Given the description of an element on the screen output the (x, y) to click on. 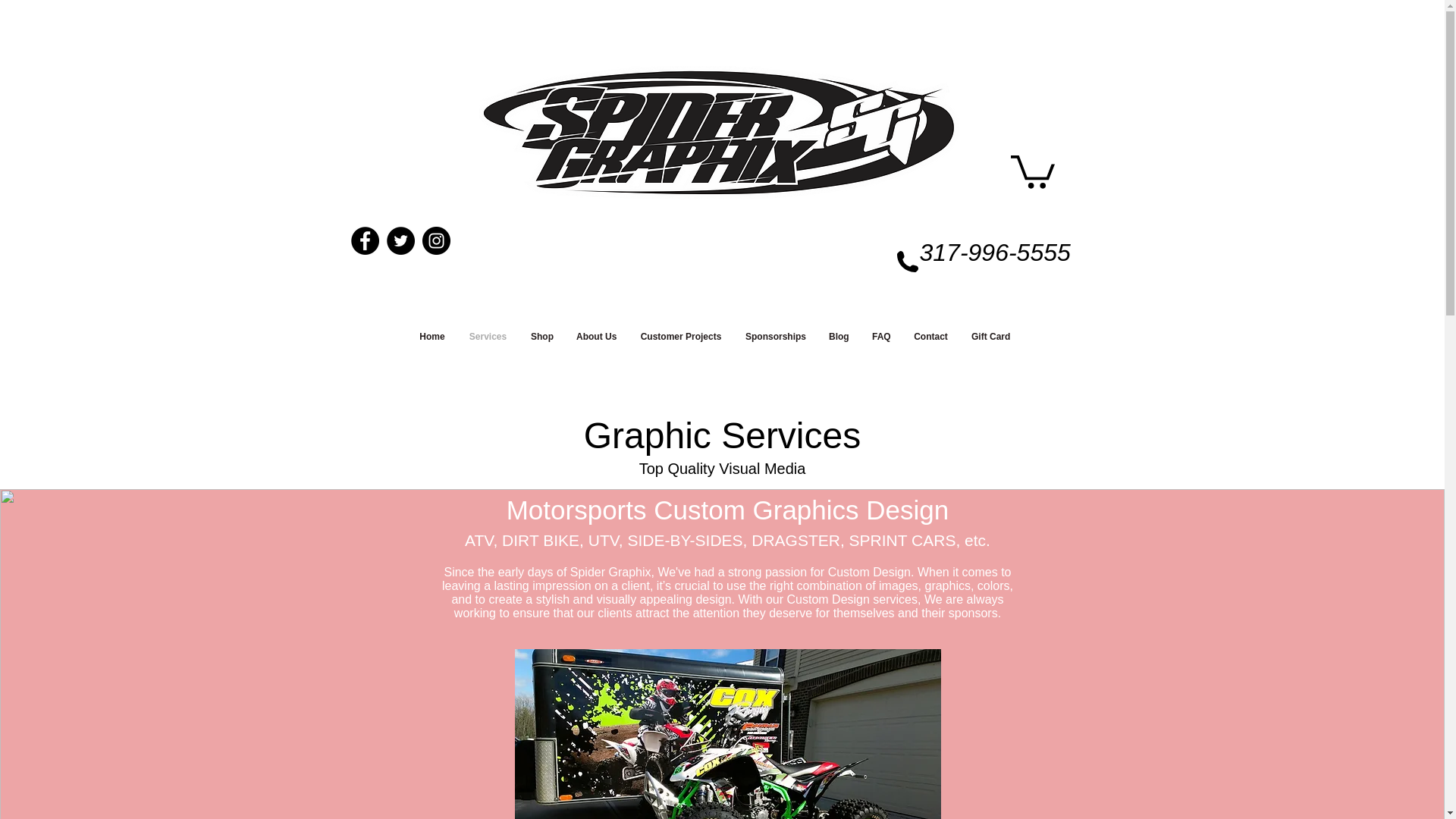
Customer Projects (680, 336)
Sponsorships (774, 336)
Blog (838, 336)
Home (432, 336)
Services (487, 336)
About Us (595, 336)
Contact (930, 336)
FAQ (880, 336)
Shop (541, 336)
Gift Card (990, 336)
